Given the description of an element on the screen output the (x, y) to click on. 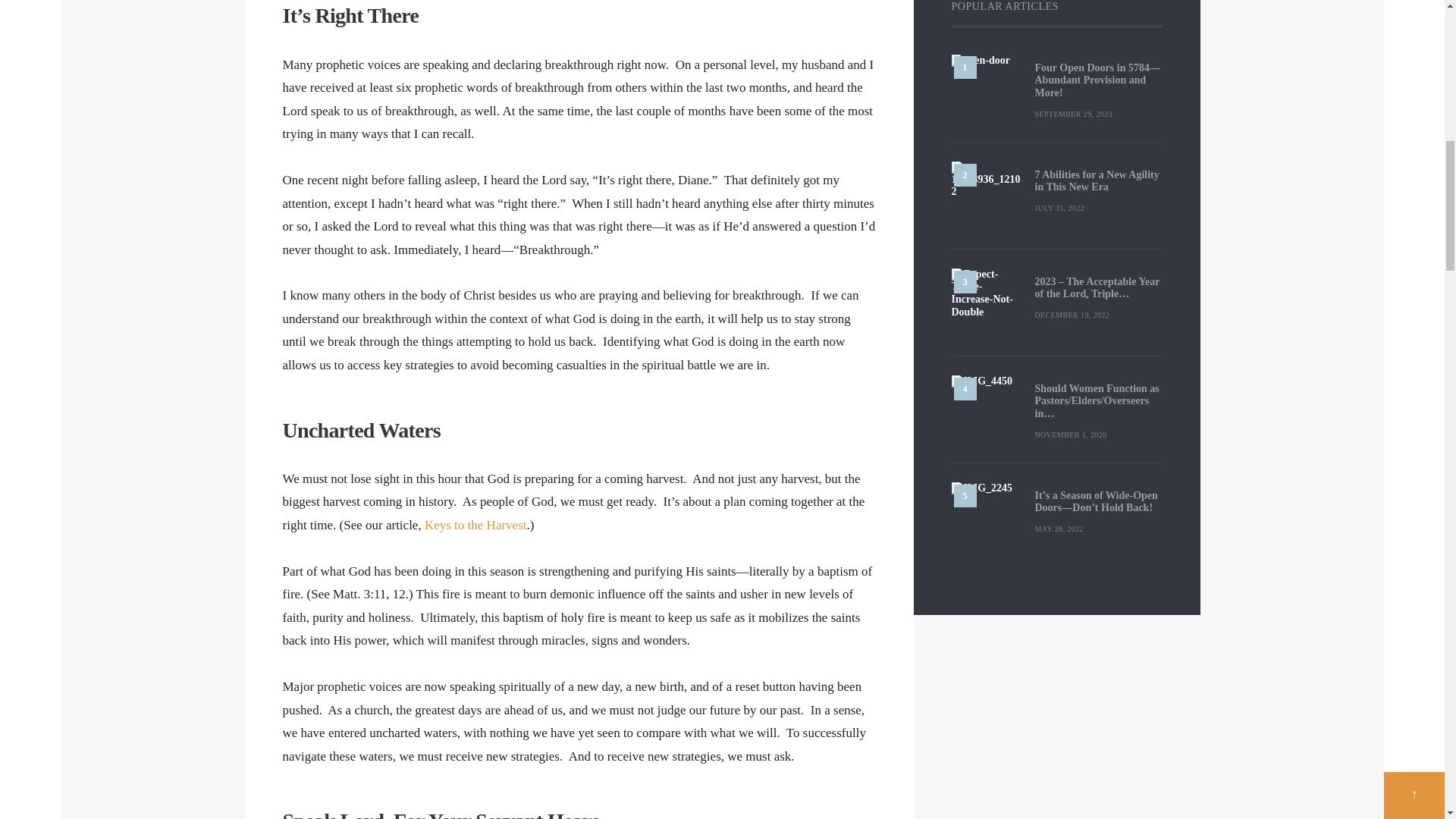
Keys to the Harvest (476, 524)
7 Abilities for a New Agility in This New Era (984, 195)
7 Abilities for a New Agility in This New Era (1097, 181)
